Given the description of an element on the screen output the (x, y) to click on. 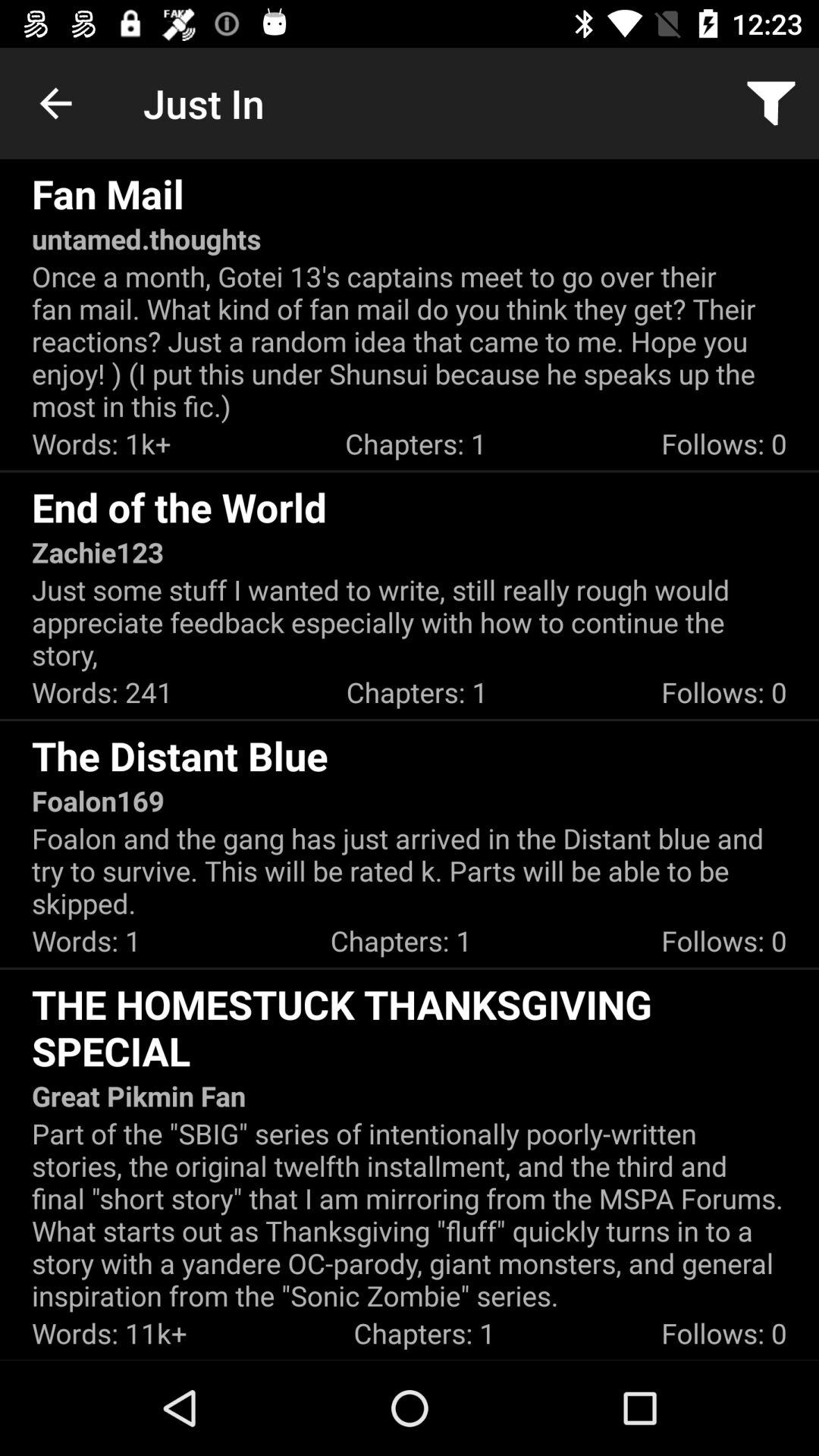
press great pikmin fan (138, 1095)
